Given the description of an element on the screen output the (x, y) to click on. 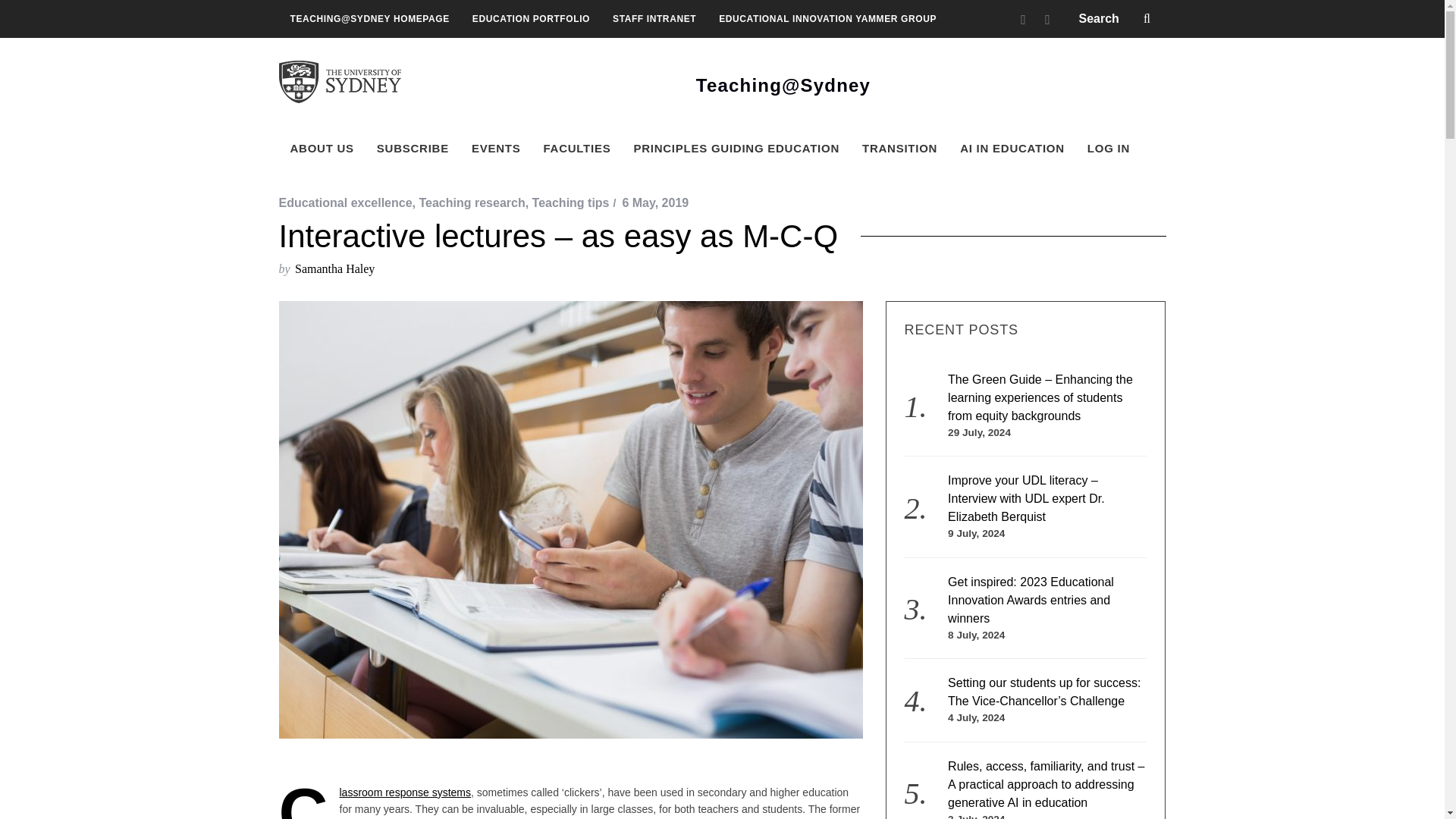
AI IN EDUCATION (1012, 148)
TRANSITION (899, 148)
EVENTS (496, 148)
PRINCIPLES GUIDING EDUCATION (735, 148)
Teaching tips (571, 202)
STAFF INTRANET (654, 18)
EDUCATION PORTFOLIO (531, 18)
Teaching research (471, 202)
Educational excellence (345, 202)
EDUCATIONAL INNOVATION YAMMER GROUP (827, 18)
Search (1116, 18)
Samantha Haley (334, 268)
FACULTIES (576, 148)
LOG IN (1108, 148)
SUBSCRIBE (412, 148)
